Given the description of an element on the screen output the (x, y) to click on. 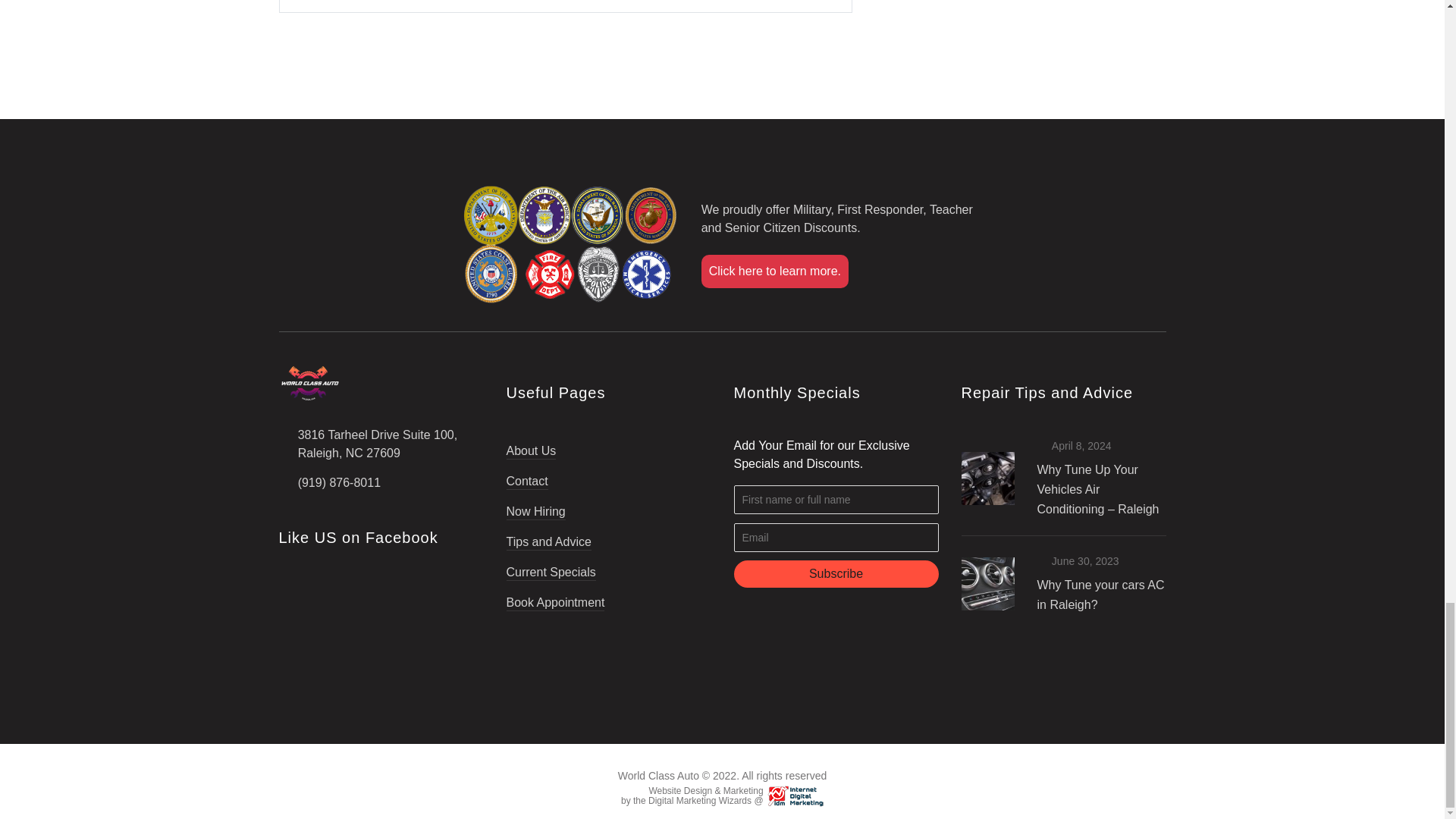
Contact (527, 474)
Why Tune your cars AC in Raleigh? (1100, 594)
Tips and Advice (548, 535)
Book Appointment (555, 595)
Current Specials (550, 565)
Subscribe (836, 574)
Subscribe (836, 574)
Now Hiring (536, 505)
About Us (531, 452)
Click here to learn more. (774, 271)
